Given the description of an element on the screen output the (x, y) to click on. 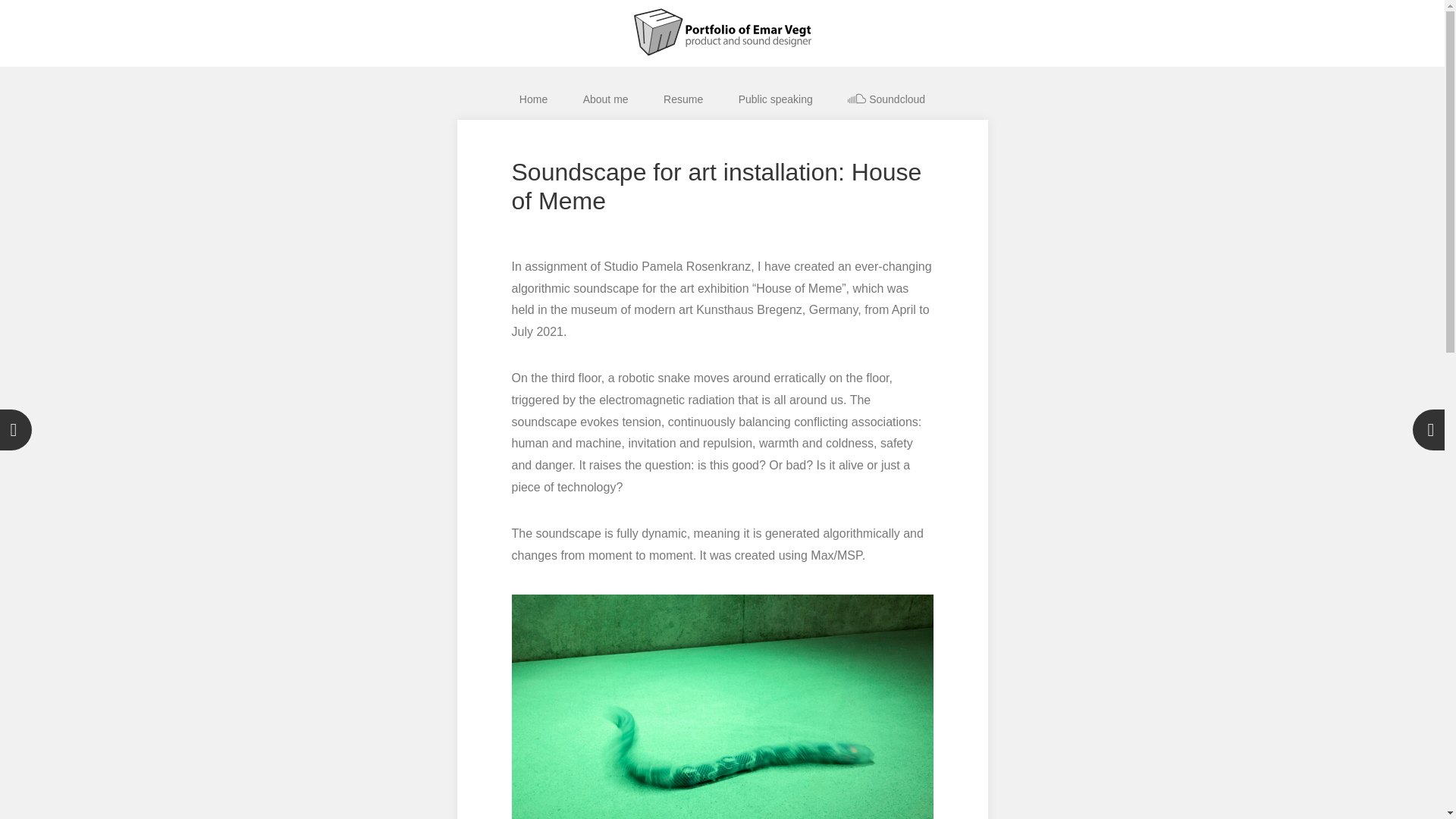
About me (606, 99)
Home (533, 99)
Soundcloud (885, 99)
Search (53, 15)
Emar Vegt on Soundcloud (885, 99)
Public speaking (775, 99)
Resume (683, 99)
